Given the description of an element on the screen output the (x, y) to click on. 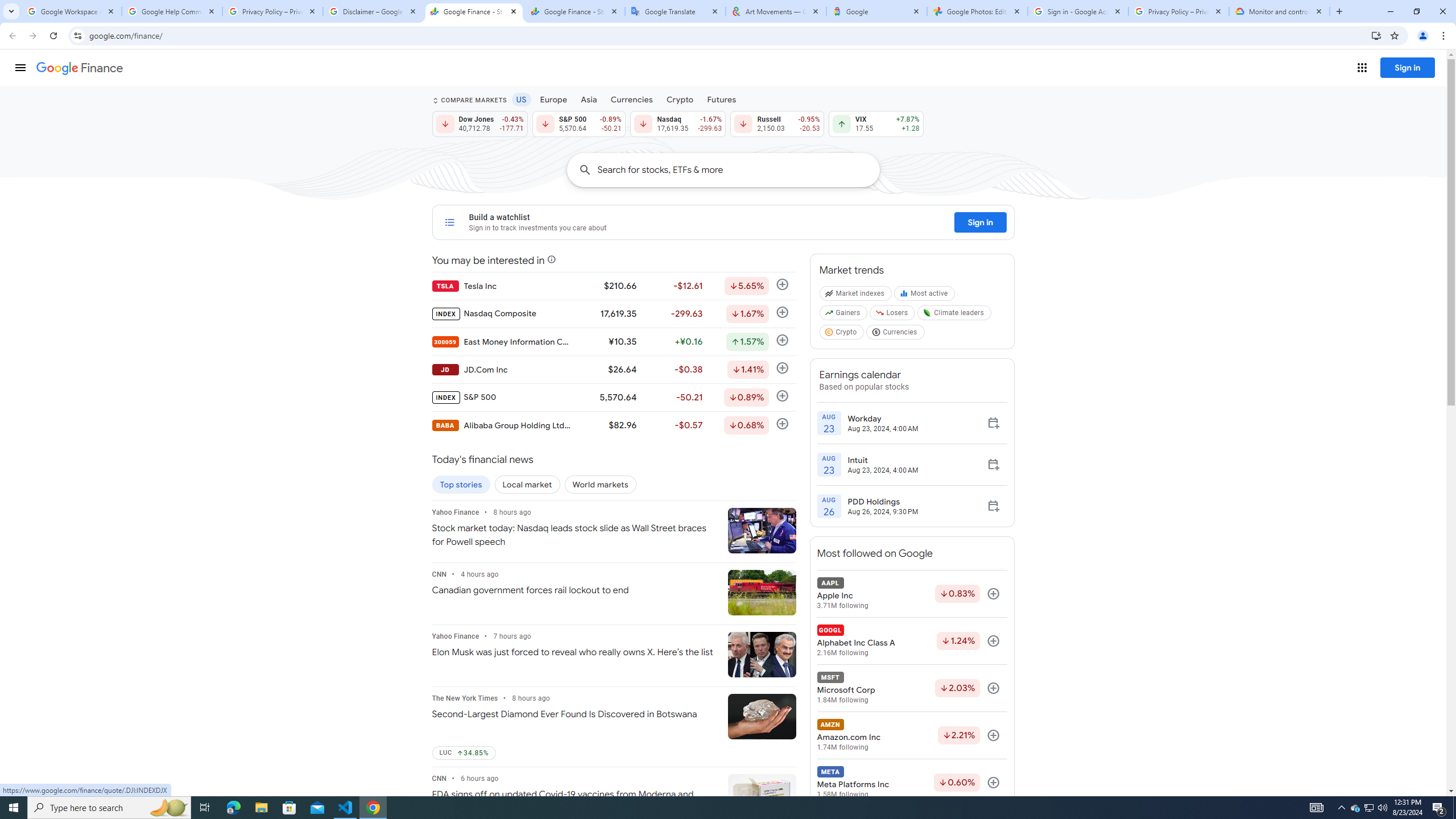
US (521, 99)
World markets (600, 484)
Search for stocks, ETFs & more (737, 169)
Workday (882, 418)
META Meta Platforms Inc 1.58M following Down by 0.60% Follow (911, 782)
Crypto (842, 334)
Asia (588, 99)
Losers (893, 315)
LUC Up by 34.85% (463, 753)
